Given the description of an element on the screen output the (x, y) to click on. 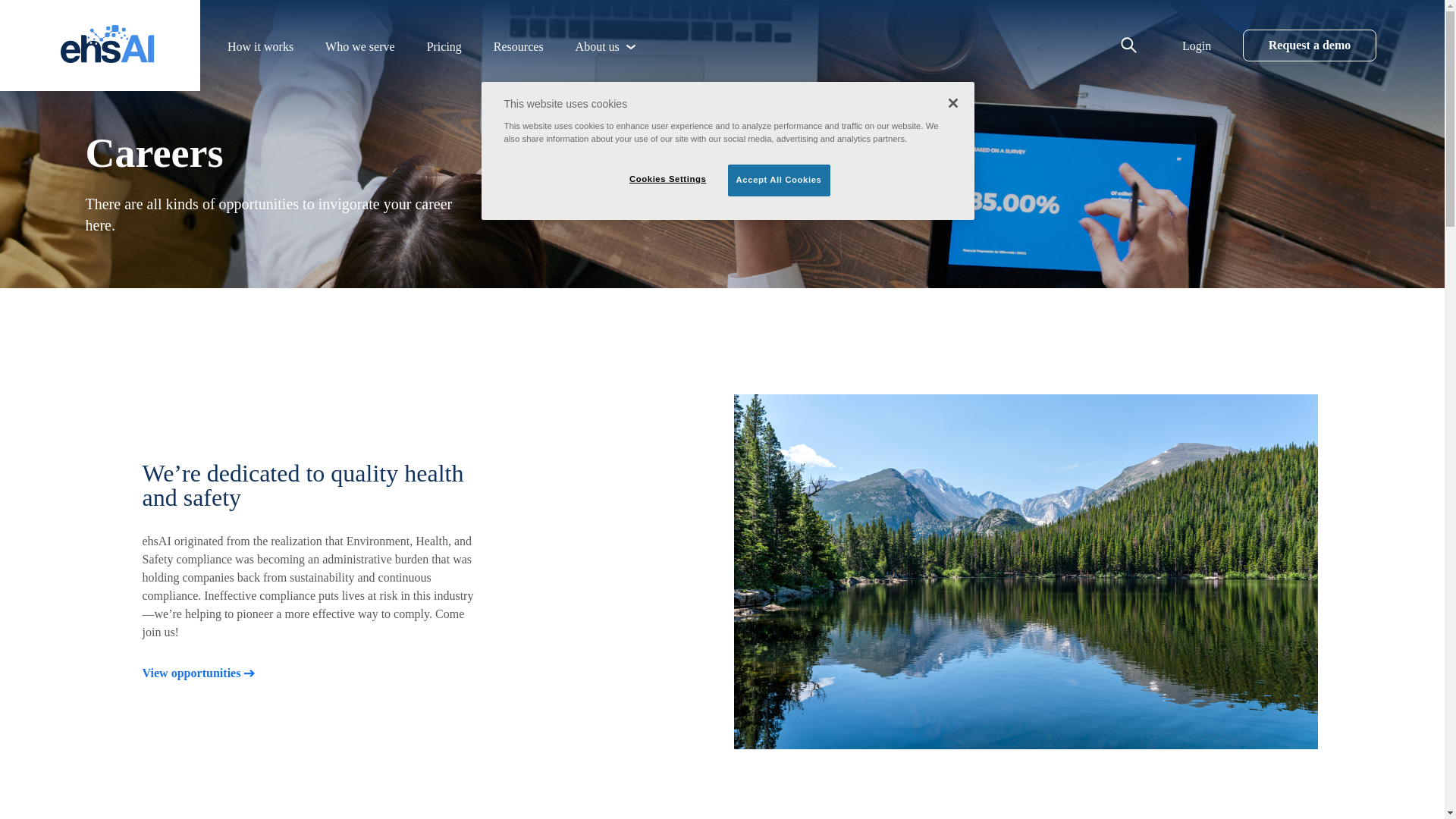
How it works (259, 46)
Who we serve (359, 46)
Resources (518, 46)
About us (596, 46)
View opportunities (198, 672)
Resources (518, 46)
Login (1196, 45)
Pricing (443, 46)
Request a demo (1309, 45)
Who we serve (359, 46)
How it works (259, 46)
About us (596, 46)
Pricing (443, 46)
